Given the description of an element on the screen output the (x, y) to click on. 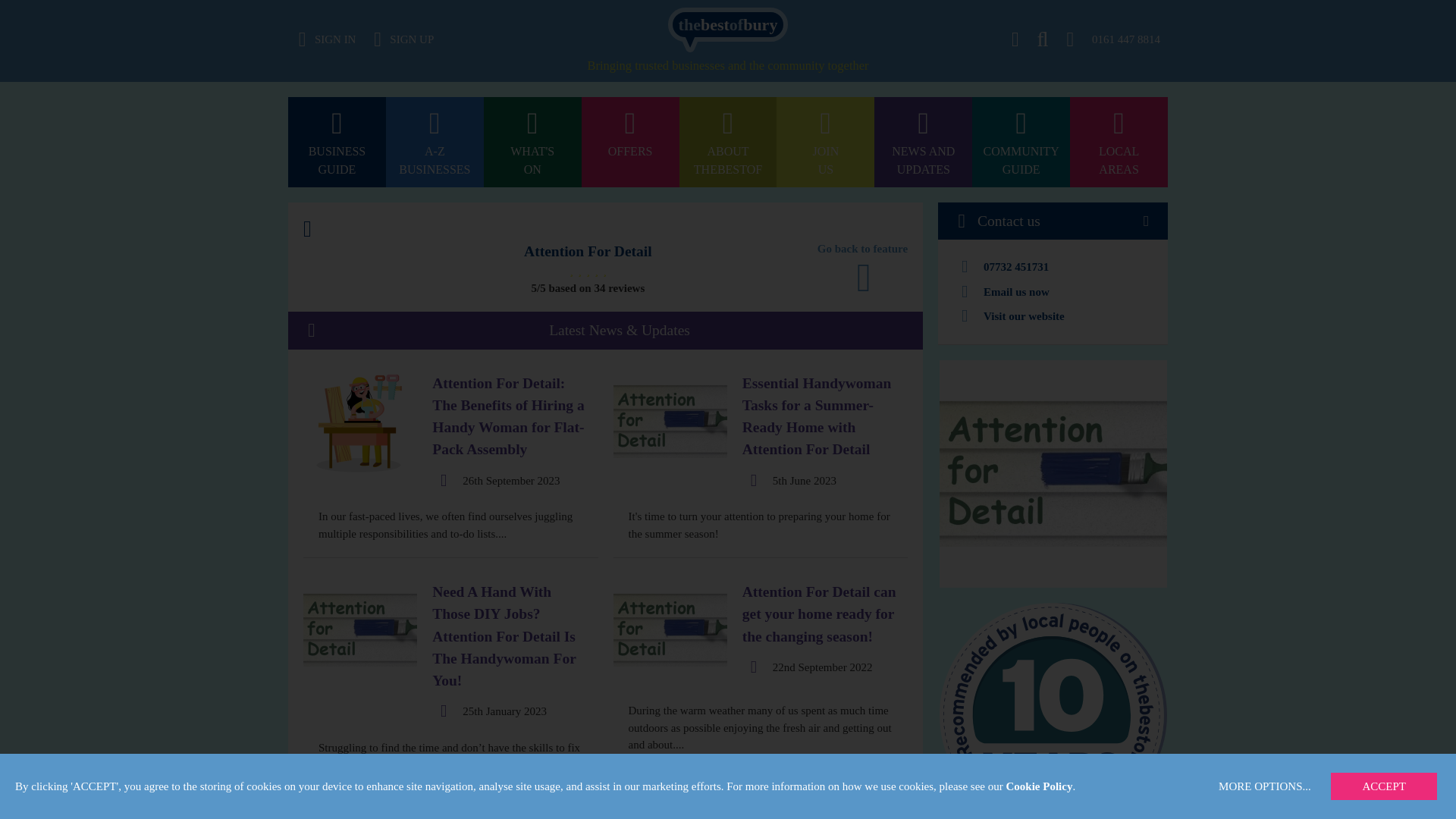
OFFERS (629, 142)
SIGN IN (728, 7)
SIGN UP (327, 39)
0161 447 8814 (825, 142)
